Given the description of an element on the screen output the (x, y) to click on. 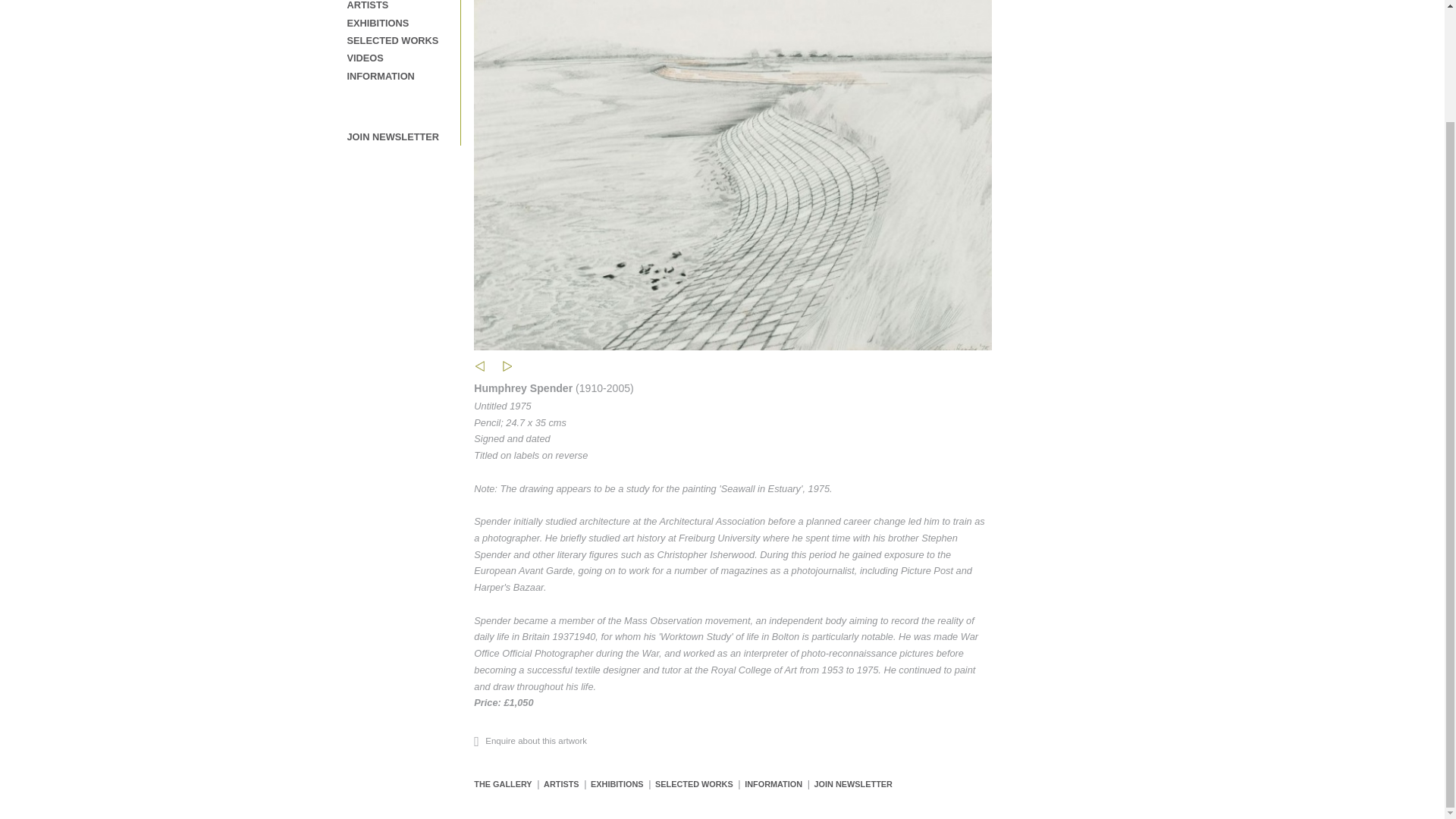
EXHIBITIONS (617, 783)
EXHIBITIONS (378, 22)
SELECTED WORKS (694, 783)
Enquire about this artwork (530, 740)
JOIN NEWSLETTER (852, 783)
THE GALLERY (502, 783)
SELECTED WORKS (393, 40)
INFORMATION (773, 783)
JOIN NEWSLETTER (393, 136)
INFORMATION (380, 75)
VIDEOS (365, 57)
ARTISTS (561, 783)
ARTISTS (367, 5)
